Given the description of an element on the screen output the (x, y) to click on. 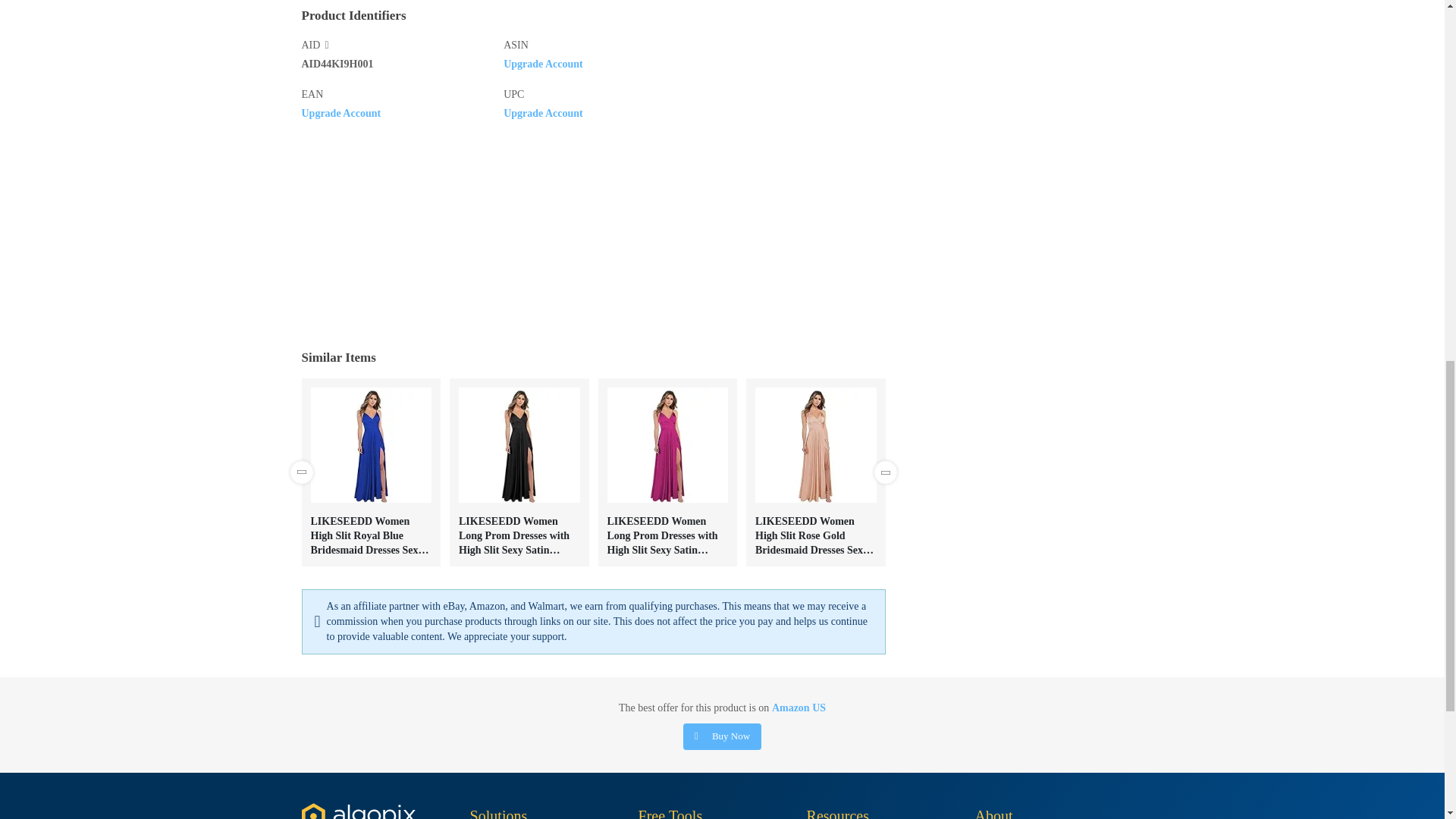
Upgrade Account (543, 62)
Upgrade Account (543, 112)
Upgrade Account (341, 112)
